Given the description of an element on the screen output the (x, y) to click on. 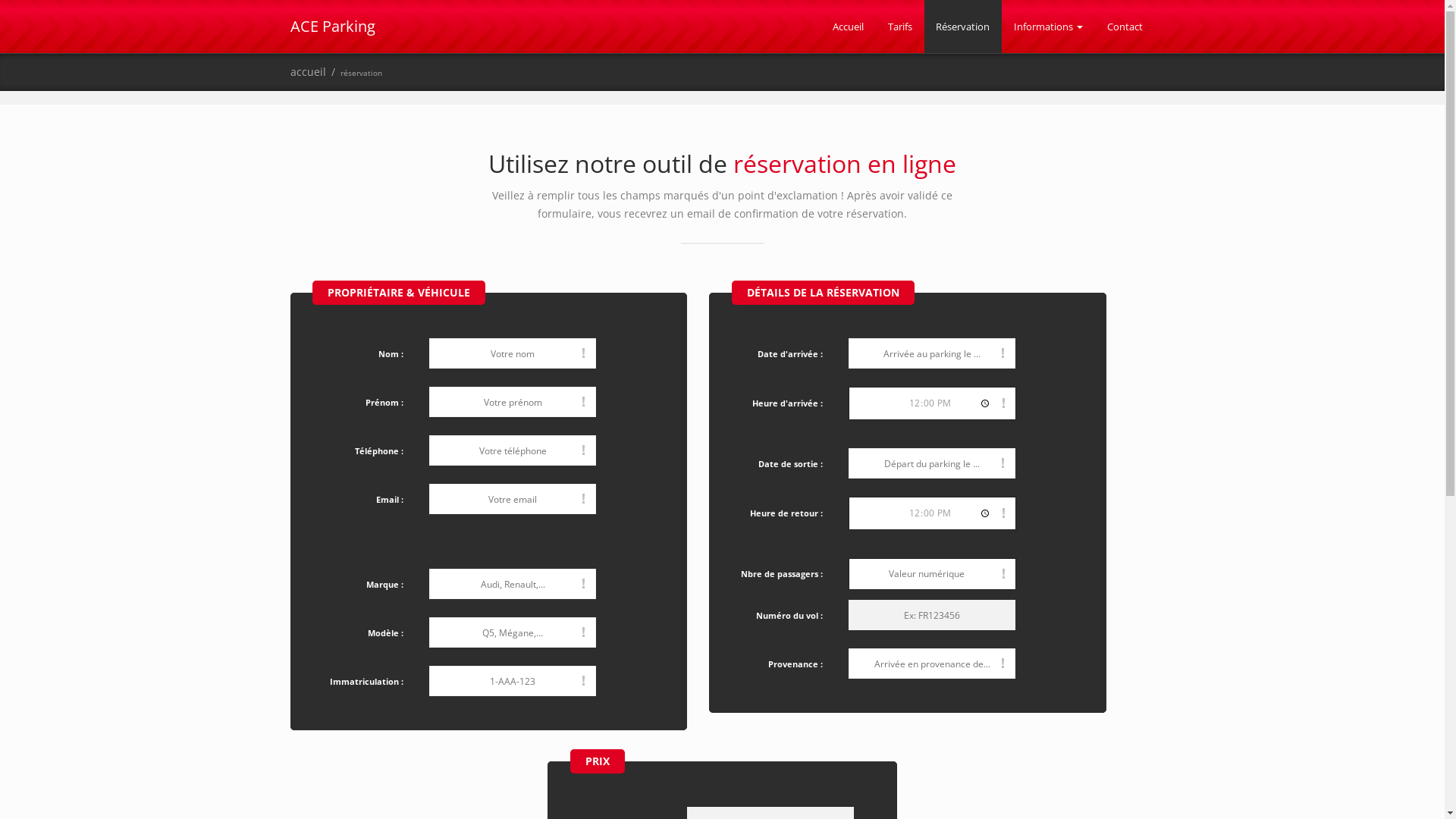
Contact Element type: text (1124, 26)
Tarifs Element type: text (899, 26)
accueil Element type: text (307, 71)
ACE Parking Element type: text (331, 25)
Accueil Element type: text (847, 26)
12:00 Element type: text (932, 513)
12:00 Element type: text (932, 403)
Informations Element type: text (1048, 26)
